Given the description of an element on the screen output the (x, y) to click on. 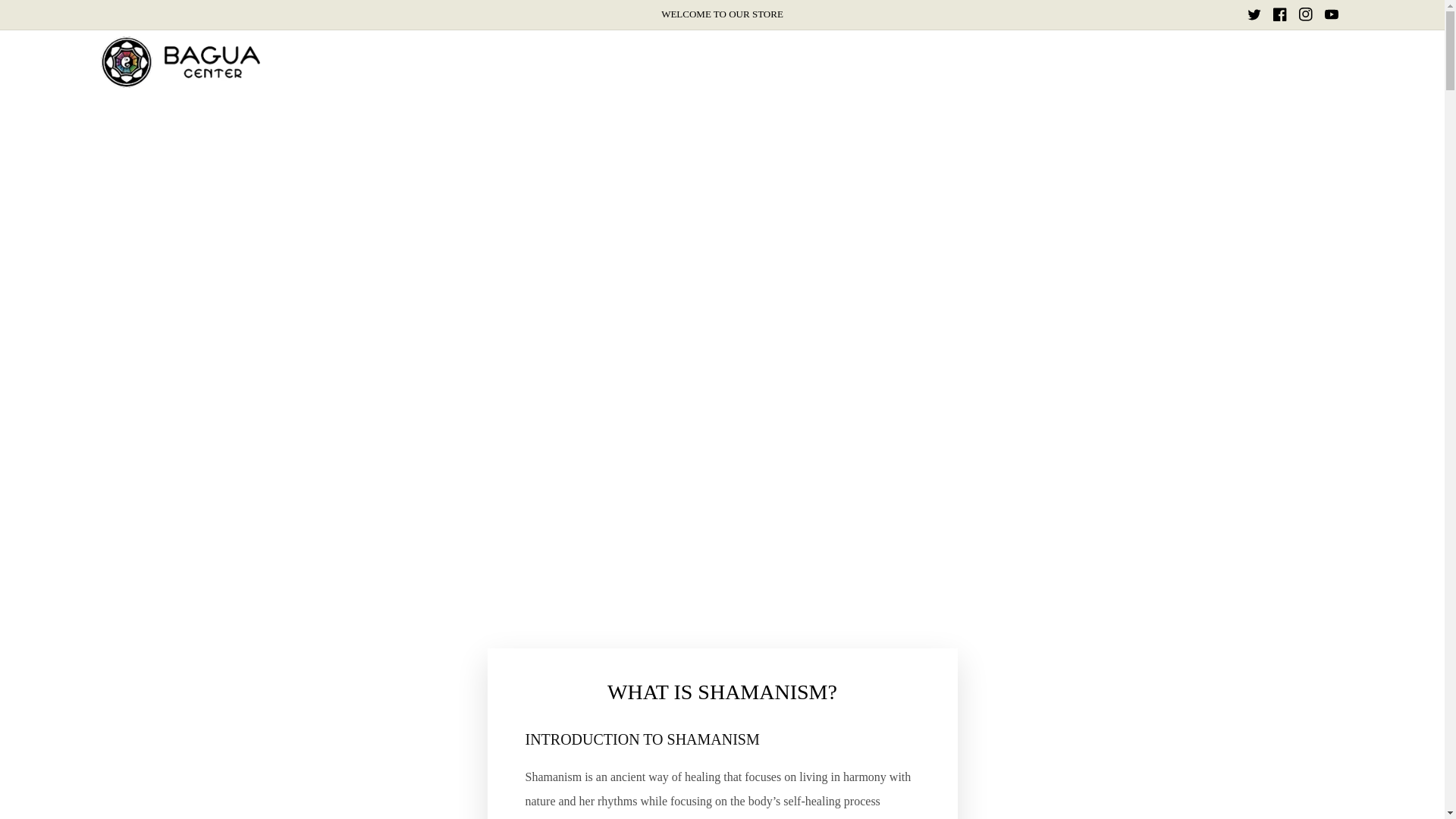
Our Path (809, 62)
Cart (1301, 62)
Classes and Events (718, 62)
Log in (1326, 62)
Deals (918, 62)
Instagram (1304, 14)
YouTube (1330, 14)
Testimonials (986, 62)
Appointments (615, 62)
Products (536, 62)
